Given the description of an element on the screen output the (x, y) to click on. 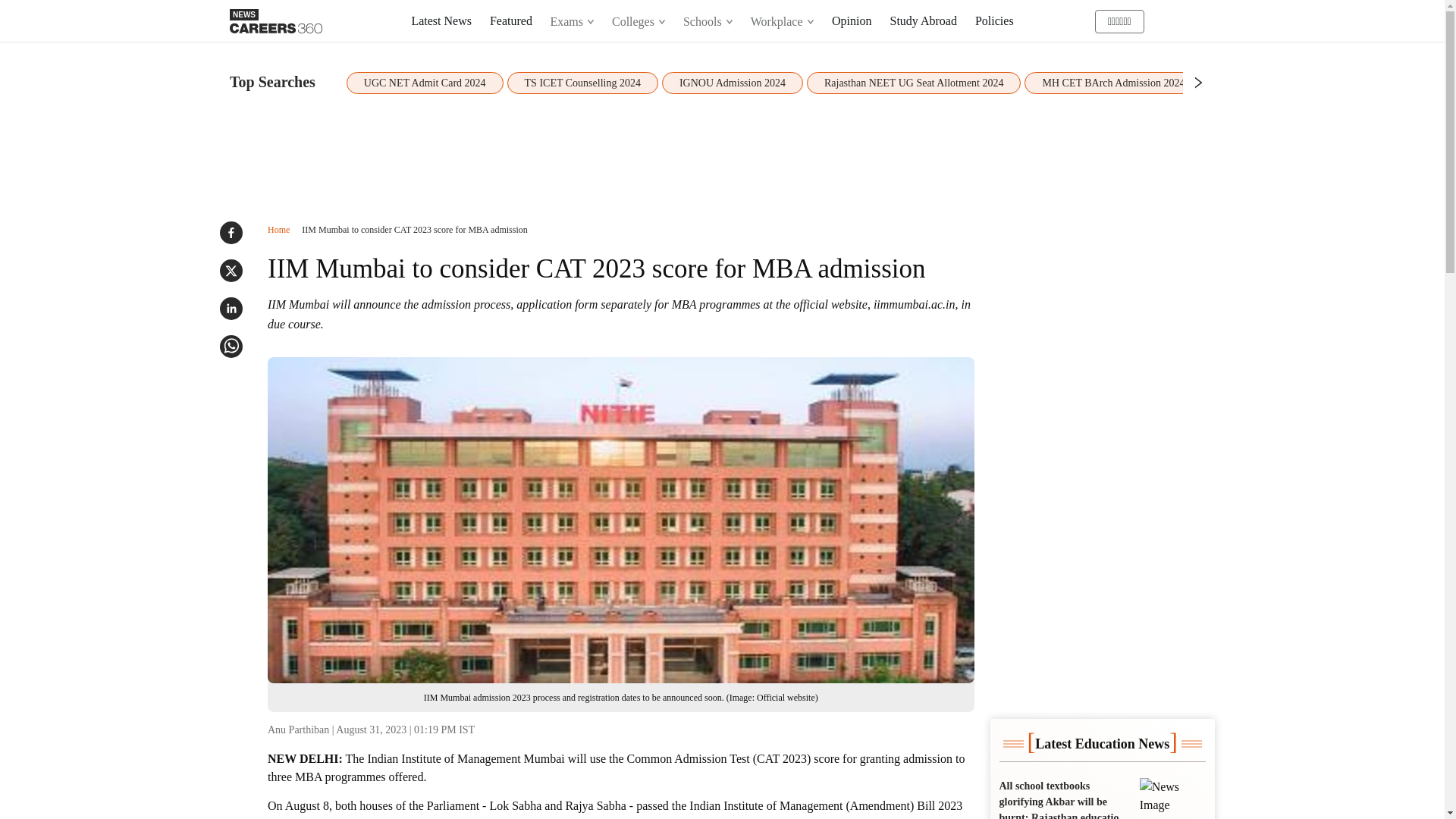
Opinion (850, 20)
Workplace (781, 20)
Rajasthan NEET UG Seat Allotment 2024 (914, 83)
Featured (510, 20)
Schools (707, 20)
Study Abroad (922, 20)
Exams (572, 20)
Latest News (440, 20)
IGNOU Admission 2024 (732, 83)
Workplace (782, 21)
